Given the description of an element on the screen output the (x, y) to click on. 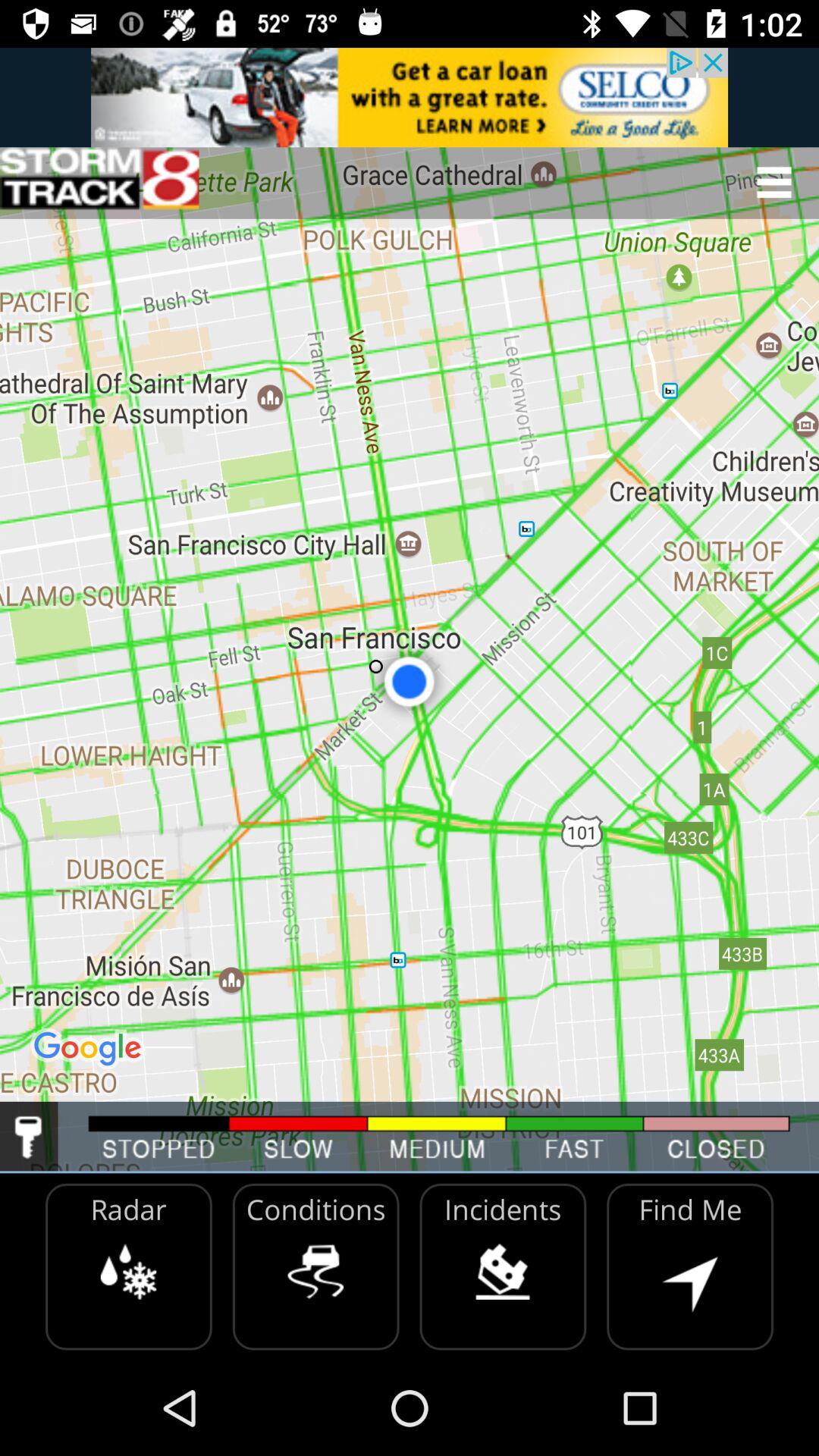
banner advertisement (409, 97)
